Given the description of an element on the screen output the (x, y) to click on. 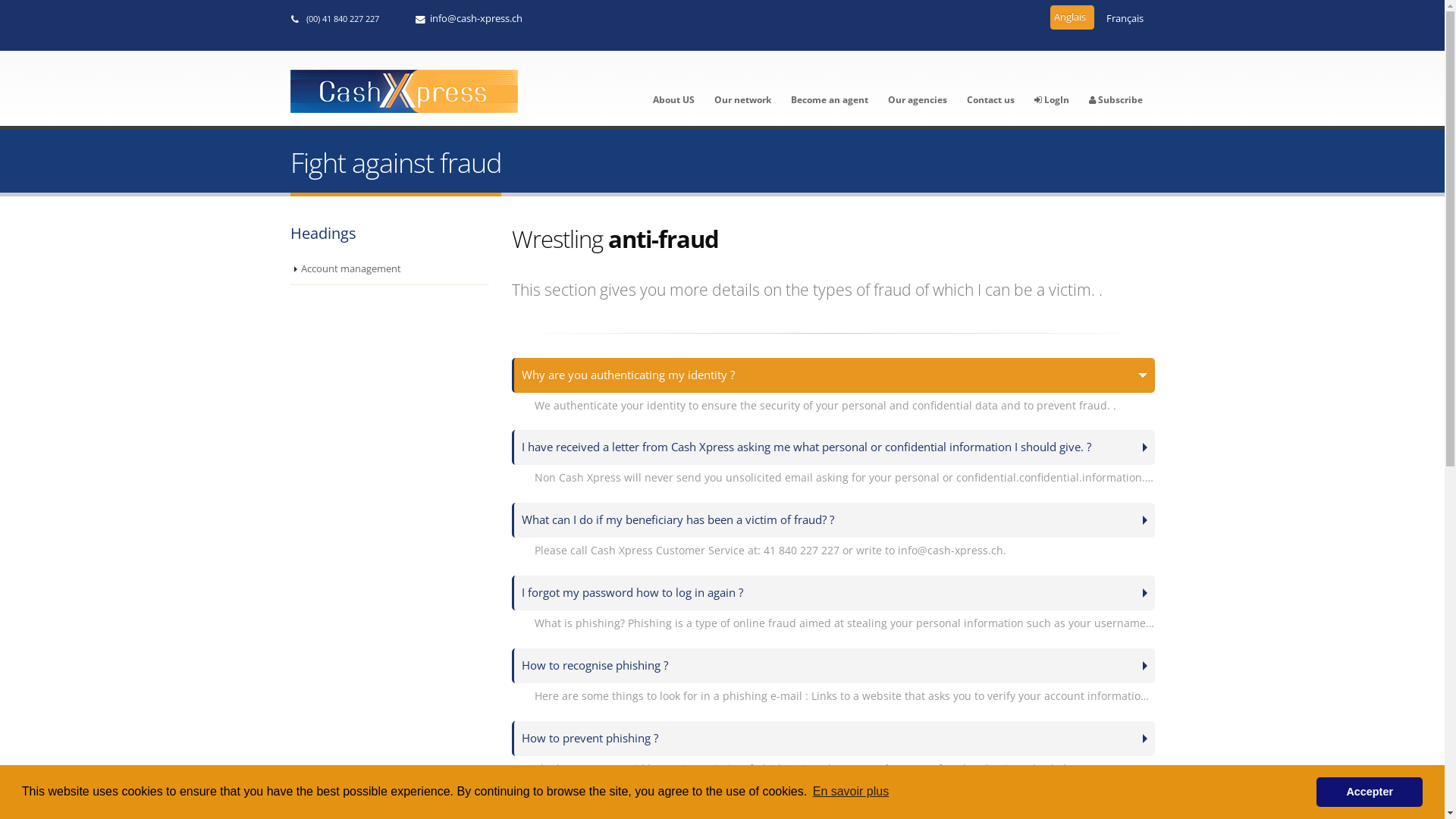
LogIn Element type: text (1050, 87)
About US Element type: text (673, 87)
Our network Element type: text (741, 87)
Anglais Element type: text (1071, 17)
Become an agent Element type: text (829, 87)
(00) 41 840 227 227 Element type: text (344, 18)
En savoir plus Element type: text (850, 791)
Accepter Element type: text (1369, 791)
Contact us Element type: text (990, 87)
Subscribe Element type: text (1114, 87)
Our agencies Element type: text (917, 87)
Account management Element type: text (389, 269)
